Given the description of an element on the screen output the (x, y) to click on. 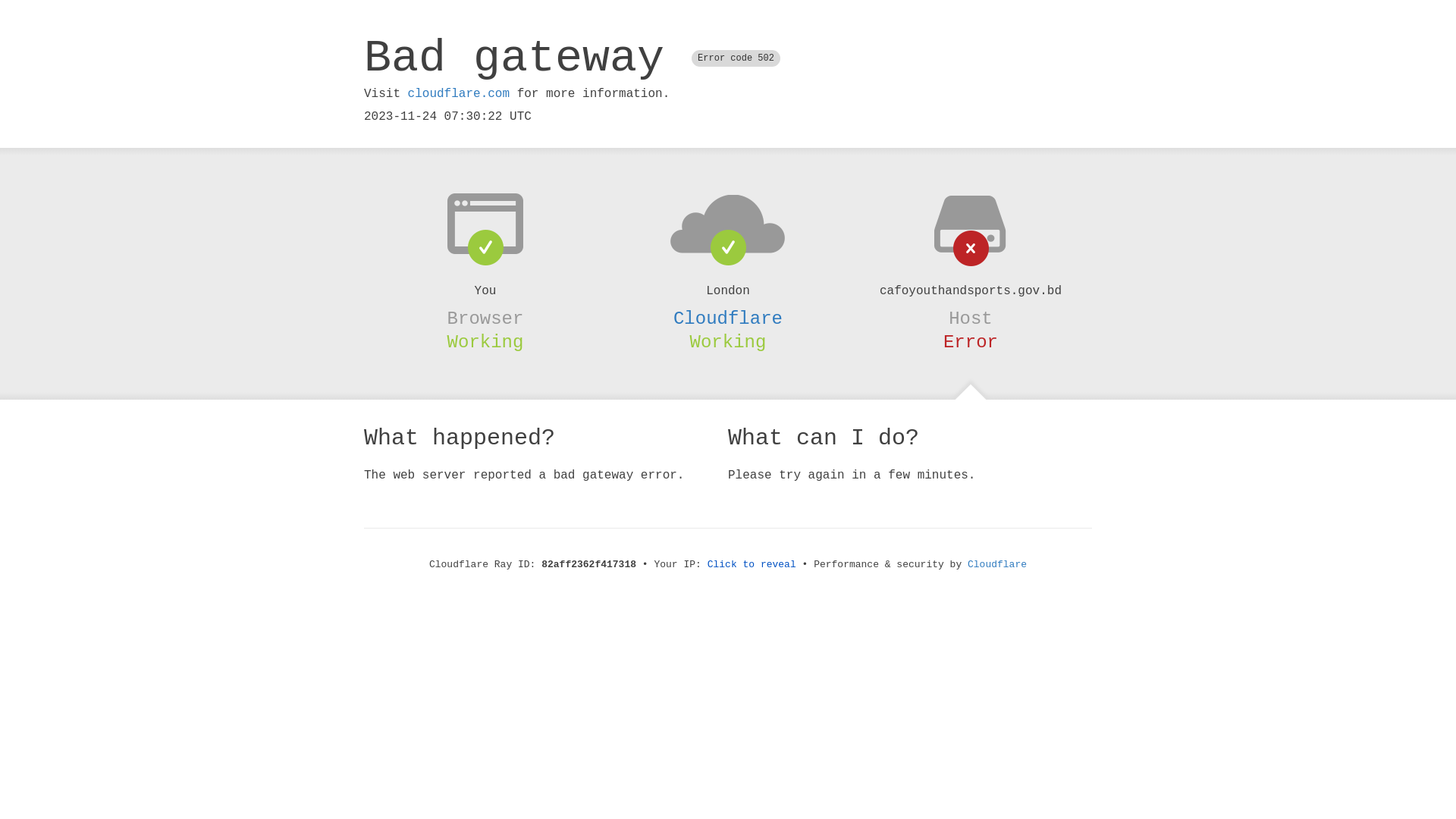
Click to reveal Element type: text (751, 564)
Cloudflare Element type: text (727, 318)
cloudflare.com Element type: text (458, 93)
Cloudflare Element type: text (996, 564)
